Given the description of an element on the screen output the (x, y) to click on. 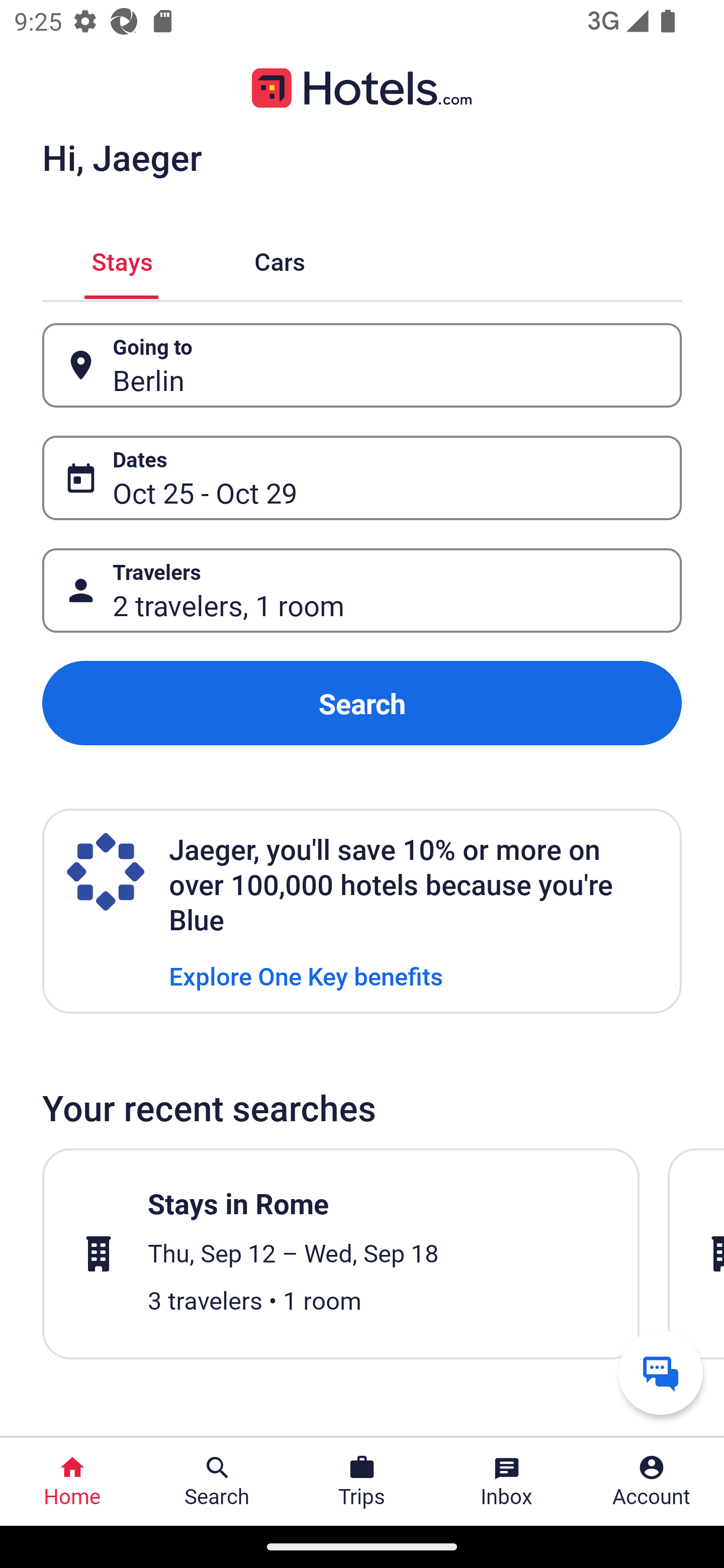
Hi, Jaeger (121, 156)
Cars (279, 259)
Going to Button Berlin (361, 365)
Dates Button Oct 25 - Oct 29 (361, 477)
Travelers Button 2 travelers, 1 room (361, 590)
Search (361, 702)
Get help from a virtual agent (660, 1371)
Search Search Button (216, 1481)
Trips Trips Button (361, 1481)
Inbox Inbox Button (506, 1481)
Account Profile. Button (651, 1481)
